Given the description of an element on the screen output the (x, y) to click on. 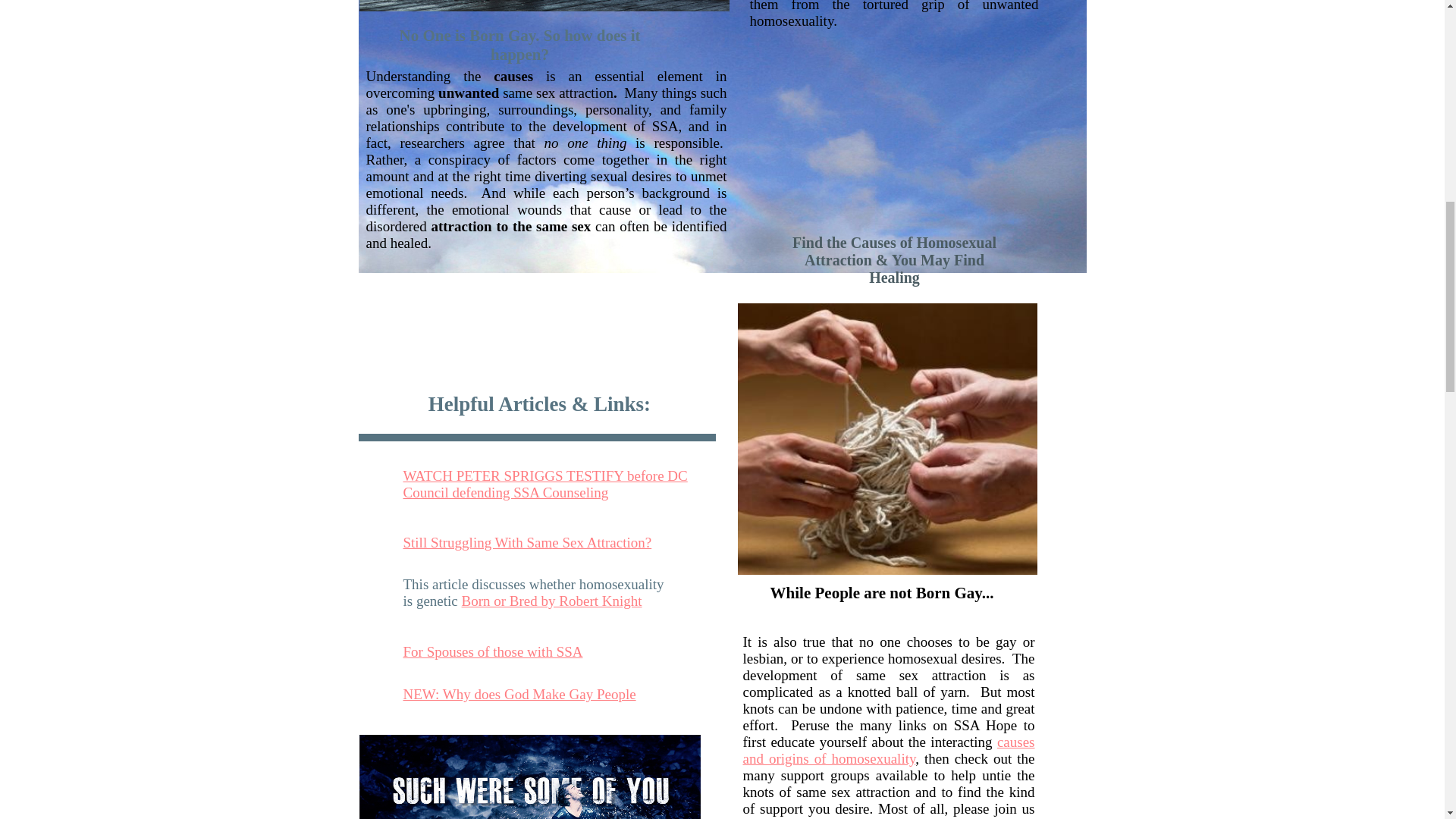
causes and origins of homosexuality (888, 749)
Born or Bred by Robert Knight (551, 600)
NEW: Why does God Make Gay People (519, 693)
Still Struggling With Same Sex Attraction? (527, 542)
For Spouses of those with SSA (493, 651)
